Given the description of an element on the screen output the (x, y) to click on. 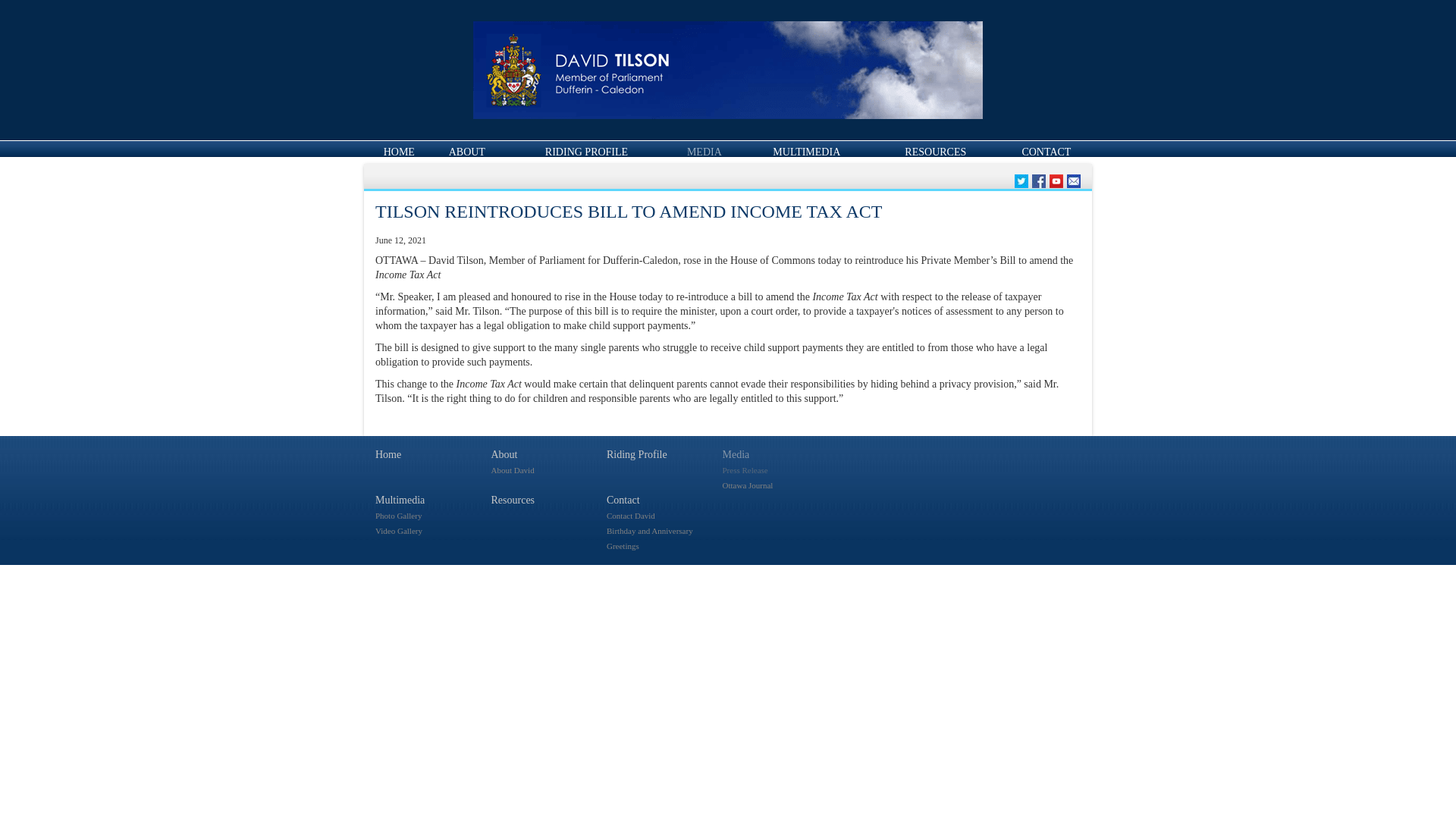
ABOUT (466, 152)
HOME (399, 152)
MULTIMEDIA (806, 152)
CONTACT (1046, 152)
MEDIA (704, 152)
RIDING PROFILE (585, 152)
RESOURCES (935, 152)
